Given the description of an element on the screen output the (x, y) to click on. 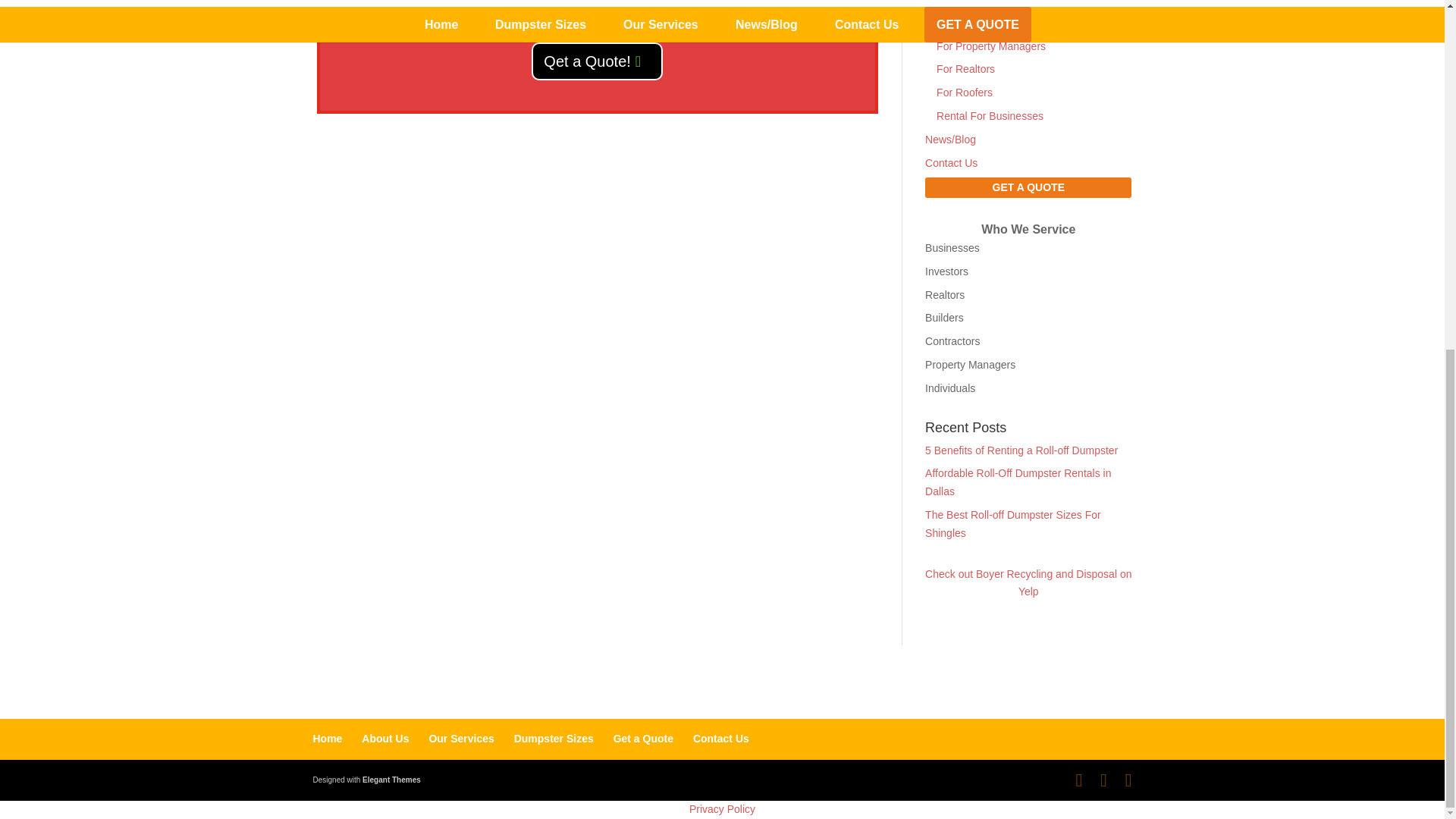
For Realtors (965, 69)
Demolition and Cleanup (992, 22)
Affordable Roll-Off Dumpster Rentals in Dallas (1017, 481)
Qet a Quote! (596, 61)
Our Services (955, 5)
5 Benefits of Renting a Roll-off Dumpster (1021, 450)
The Best Roll-off Dumpster Sizes For Shingles (1012, 523)
Rental For Businesses (989, 115)
GET A QUOTE (1028, 186)
Contact Us (950, 162)
For Roofers (964, 92)
For Property Managers (990, 46)
